Given the description of an element on the screen output the (x, y) to click on. 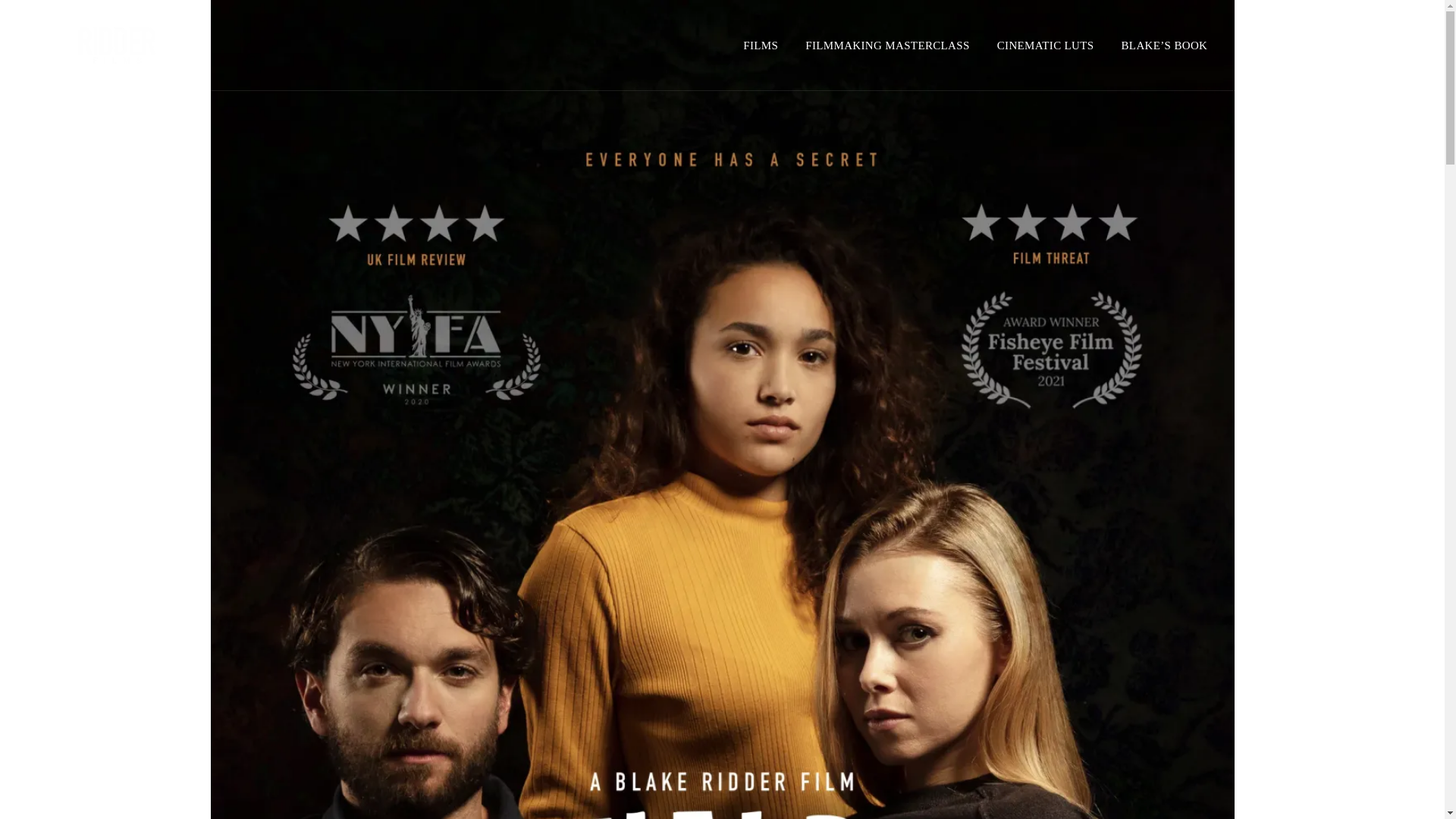
CINEMATIC LUTS (1046, 45)
PATREON (1260, 45)
CONTACT (1340, 45)
FILMS (760, 45)
FILMMAKING MASTERCLASS (887, 45)
